Given the description of an element on the screen output the (x, y) to click on. 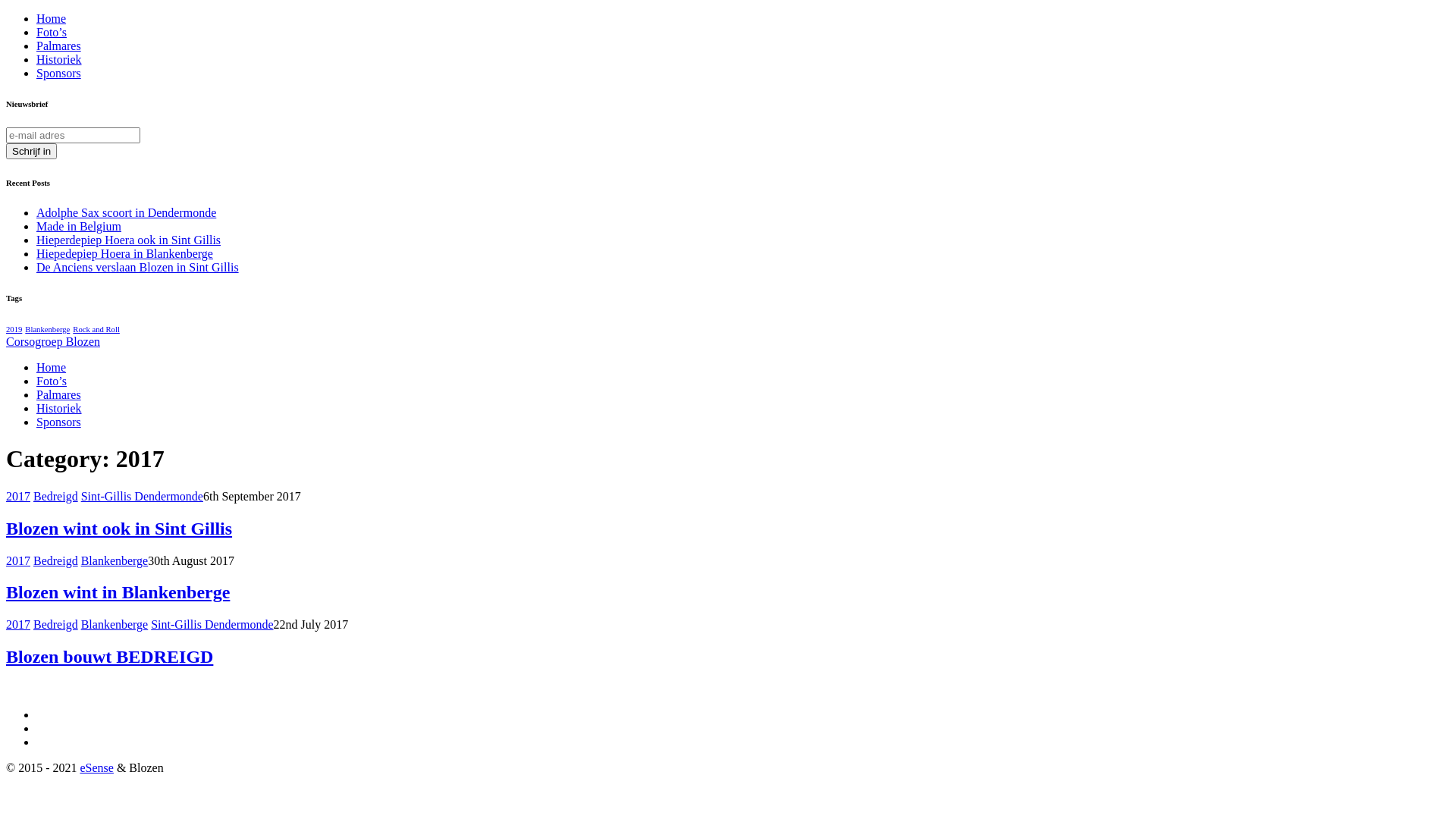
eSense Element type: text (95, 767)
Blozen wint in Blankenberge Element type: text (117, 592)
Historiek Element type: text (58, 407)
Palmares Element type: text (58, 45)
2017 Element type: text (18, 559)
2017 Element type: text (18, 624)
2019 Element type: text (13, 329)
Corsogroep Blozen Element type: text (53, 341)
Blozen wint ook in Sint Gillis Element type: text (119, 528)
Blozen bouwt BEDREIGD Element type: text (109, 656)
Schrijf in Element type: text (31, 151)
Sponsors Element type: text (58, 421)
Made in Belgium Element type: text (78, 225)
Hiepedepiep Hoera in Blankenberge Element type: text (124, 253)
2017 Element type: text (18, 495)
Blankenberge Element type: text (114, 624)
Historiek Element type: text (58, 59)
Bedreigd Element type: text (55, 559)
Blankenberge Element type: text (114, 559)
Bedreigd Element type: text (55, 495)
Sint-Gillis Dendermonde Element type: text (211, 624)
Home Element type: text (50, 18)
Hieperdepiep Hoera ook in Sint Gillis Element type: text (128, 239)
Palmares Element type: text (58, 394)
Rock and Roll Element type: text (95, 329)
De Anciens verslaan Blozen in Sint Gillis Element type: text (137, 266)
Bedreigd Element type: text (55, 624)
Sint-Gillis Dendermonde Element type: text (142, 495)
Home Element type: text (50, 366)
Adolphe Sax scoort in Dendermonde Element type: text (126, 212)
Blankenberge Element type: text (47, 329)
Sponsors Element type: text (58, 72)
